Given the description of an element on the screen output the (x, y) to click on. 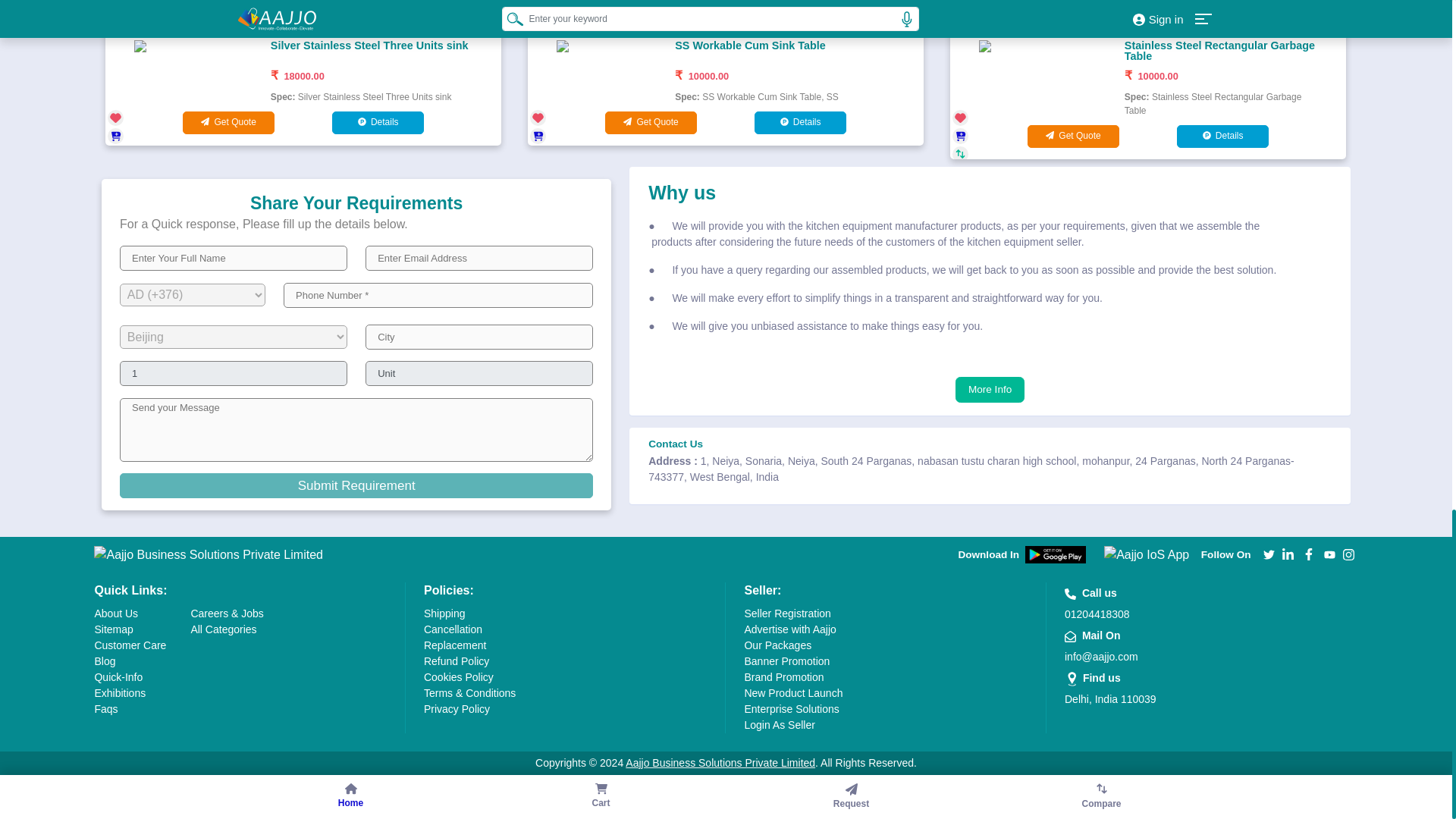
Unit (478, 372)
1 (233, 372)
Submit Requirement (355, 485)
